Given the description of an element on the screen output the (x, y) to click on. 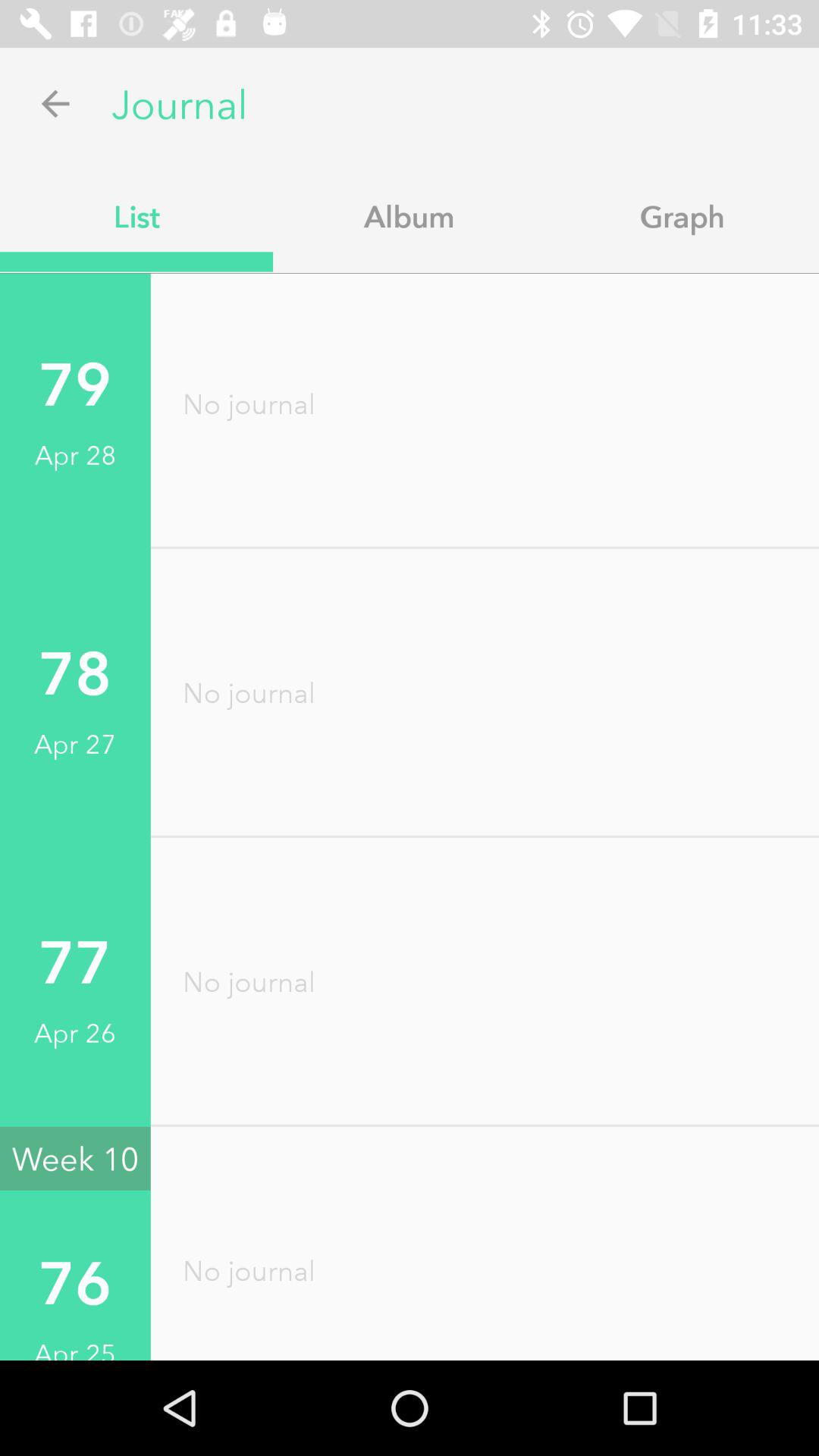
press app above list app (55, 103)
